Given the description of an element on the screen output the (x, y) to click on. 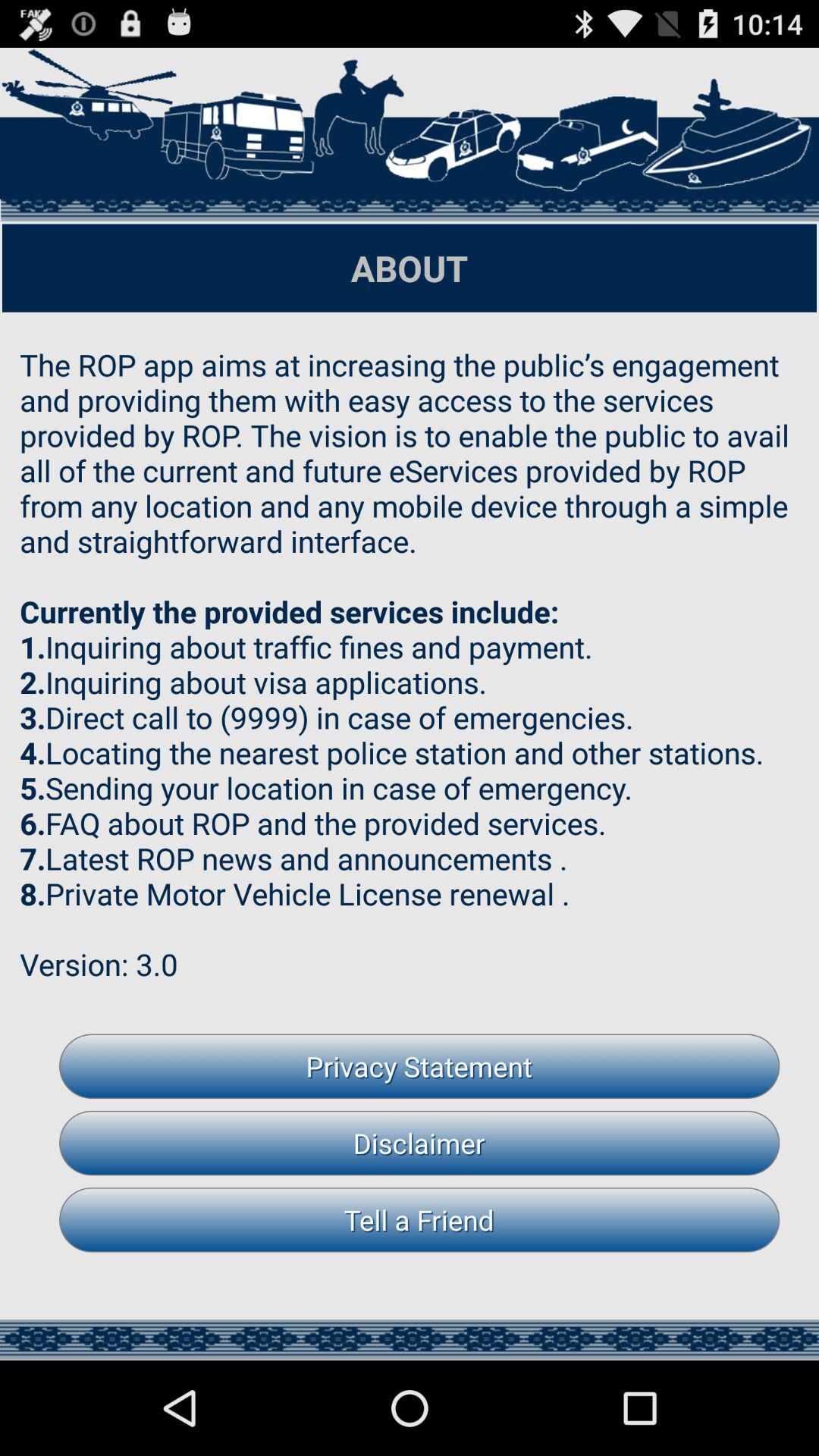
select button above the tell a friend icon (419, 1142)
